Given the description of an element on the screen output the (x, y) to click on. 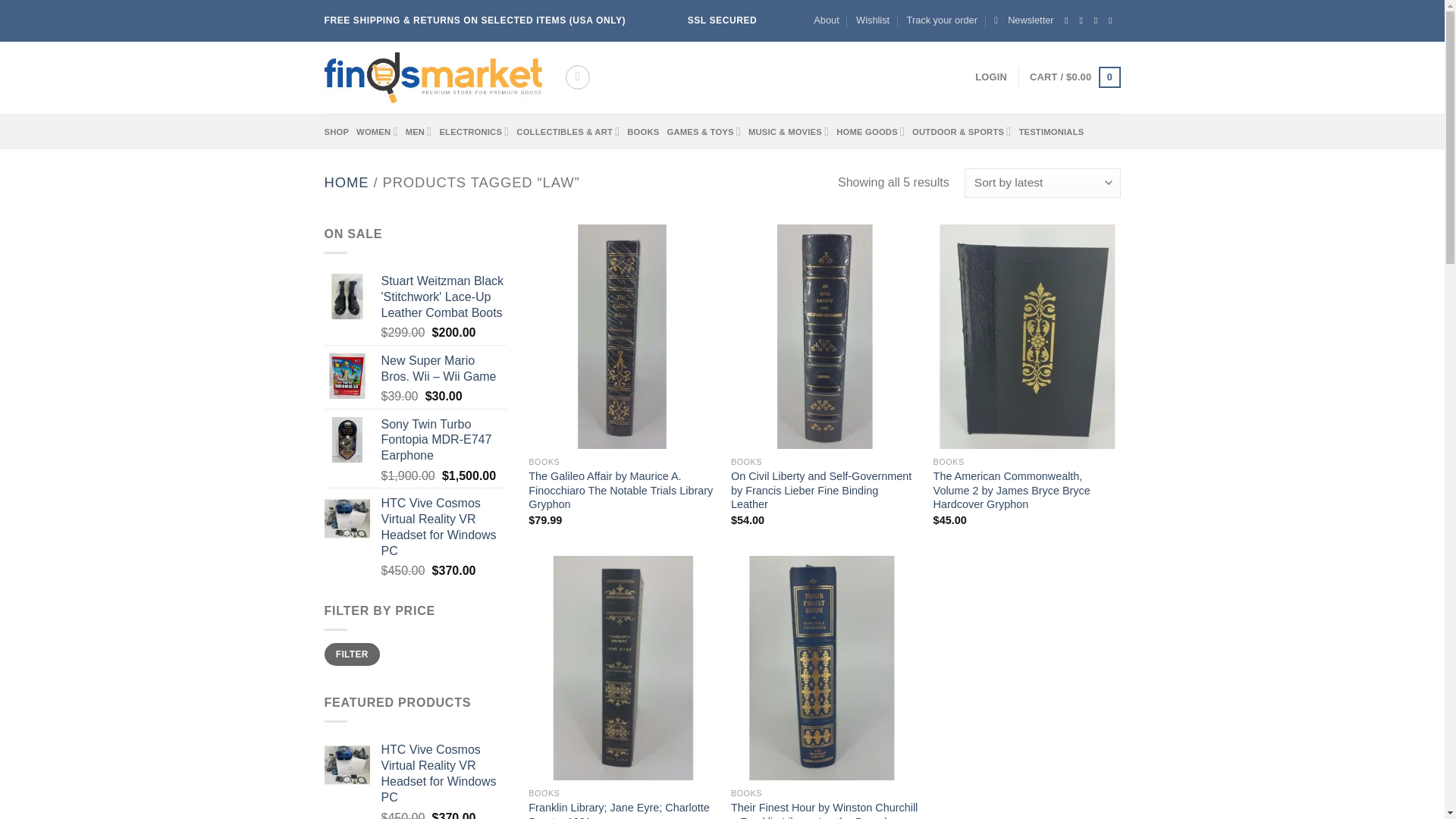
Cart (1074, 77)
Sign up for Newsletter (1023, 20)
ELECTRONICS (473, 131)
SHOP (336, 131)
Newsletter (1023, 20)
WOMEN (376, 131)
About (825, 20)
MEN (419, 131)
Findsmarket - Premium Store For Premium Goods Free Shipping (432, 78)
Track your order (941, 20)
